Given the description of an element on the screen output the (x, y) to click on. 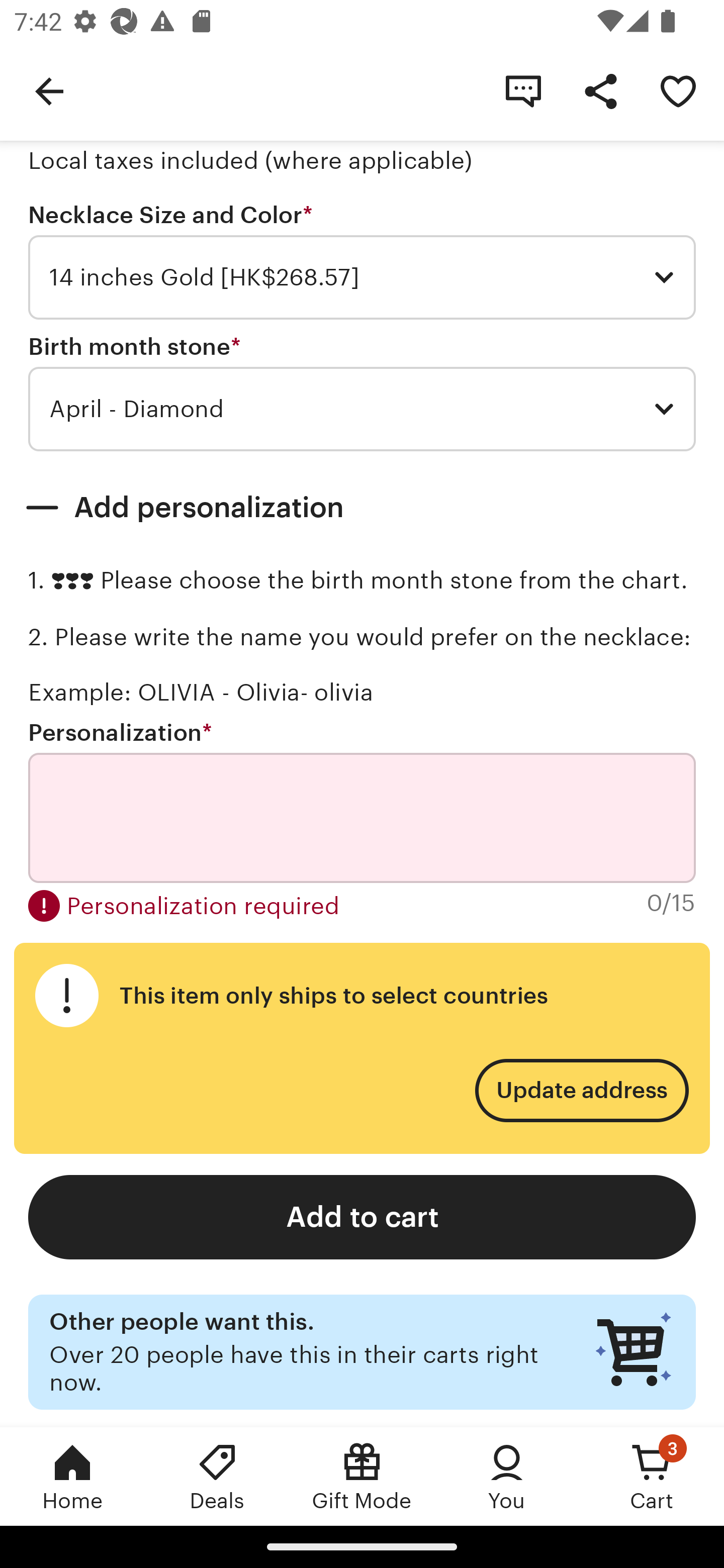
Navigate up (49, 90)
Contact shop (523, 90)
Share (600, 90)
14 inches Gold [HK$268.57] (361, 277)
Birth month stone * Required April - Diamond (361, 392)
April - Diamond (361, 408)
Add personalization Add personalization Required (362, 507)
Update address (581, 1090)
Add to cart (361, 1216)
Deals (216, 1475)
Gift Mode (361, 1475)
You (506, 1475)
Cart, 3 new notifications Cart (651, 1475)
